Given the description of an element on the screen output the (x, y) to click on. 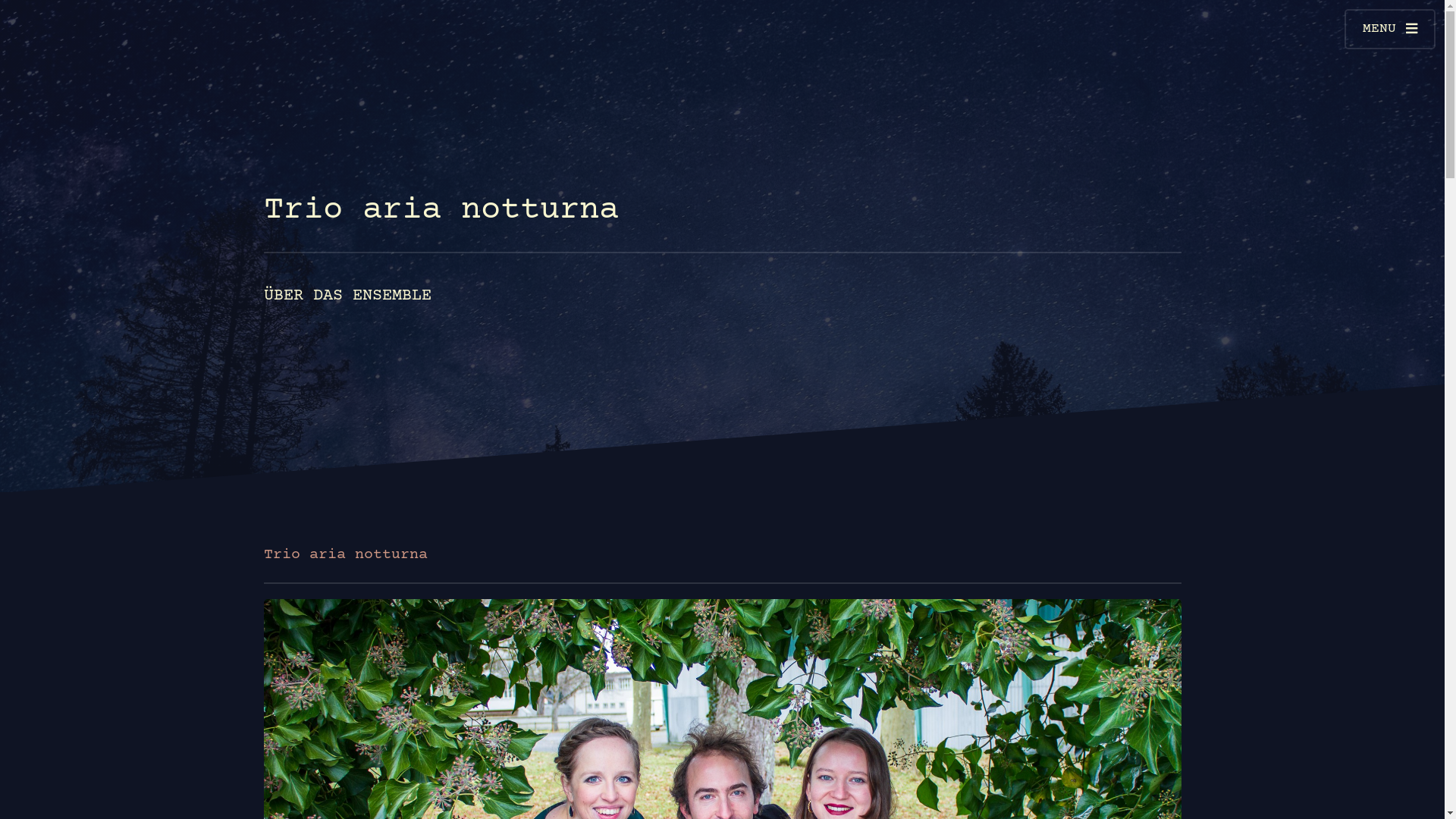
MENU Element type: text (1389, 29)
